Given the description of an element on the screen output the (x, y) to click on. 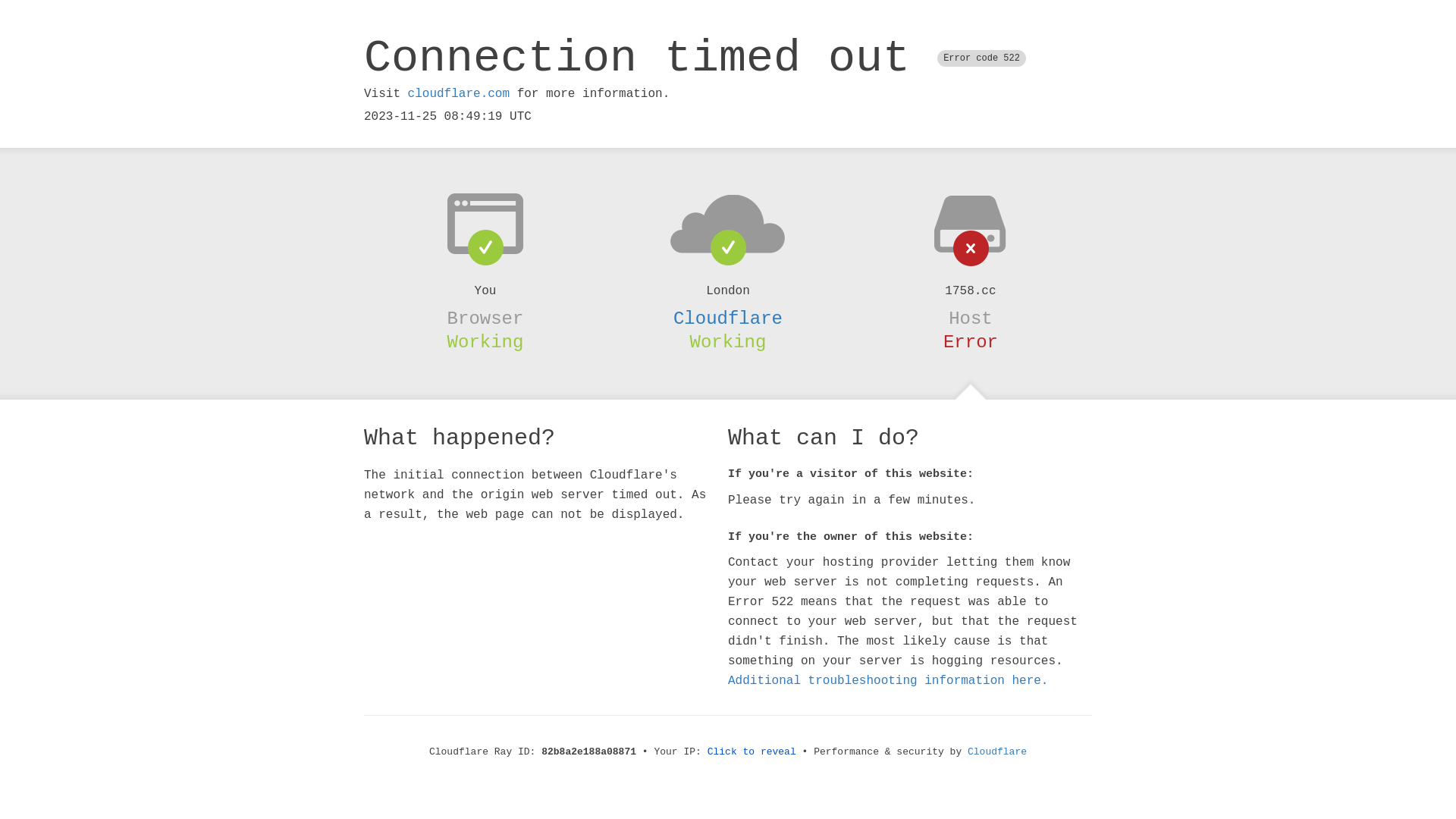
Additional troubleshooting information here. Element type: text (888, 680)
Cloudflare Element type: text (727, 318)
Click to reveal Element type: text (751, 751)
Cloudflare Element type: text (996, 751)
cloudflare.com Element type: text (458, 93)
